Given the description of an element on the screen output the (x, y) to click on. 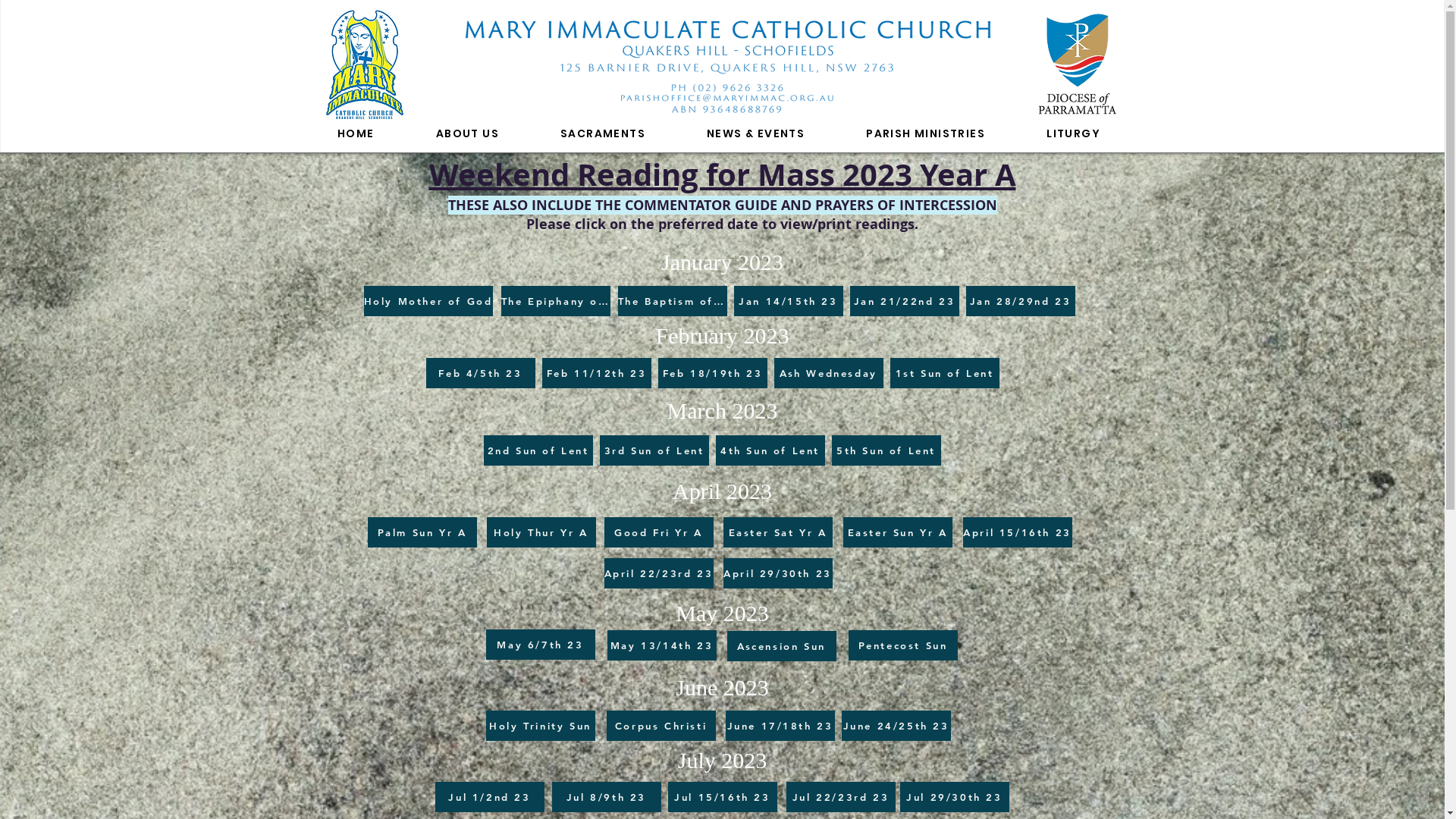
Holy Thur Yr A Element type: text (541, 532)
June 17/18th 23 Element type: text (779, 725)
Jul 15/16th 23 Element type: text (721, 796)
Easter Sun Yr A Element type: text (897, 532)
3rd Sun of Lent Element type: text (653, 450)
April 22/23rd 23 Element type: text (657, 573)
April 29/30th 23 Element type: text (777, 573)
Jan 21/22nd 23 Element type: text (903, 300)
5th Sun of Lent Element type: text (885, 450)
June 24/25th 23 Element type: text (895, 725)
Palm Sun Yr A Element type: text (421, 532)
Pentecost Sun Element type: text (902, 645)
Easter Sat Yr A Element type: text (777, 532)
Holy Mother of God Element type: text (428, 300)
Mary Immaculate Parish Element type: hover (364, 64)
2nd Sun of Lent Element type: text (538, 450)
Jan 28/29nd 23 Element type: text (1020, 300)
TITLE-BLOCKmips.png Element type: hover (727, 65)
Jul 29/30th 23 Element type: text (953, 796)
Jul 8/9th 23 Element type: text (606, 796)
Ascension Sun Element type: text (780, 645)
Diocese of Parramatta Element type: hover (1076, 66)
Feb 11/12th 23 Element type: text (595, 372)
Ash Wednesday Element type: text (827, 372)
NEWS & EVENTS Element type: text (754, 134)
Corpus Christi Element type: text (660, 725)
4th Sun of Lent Element type: text (770, 450)
Feb 18/19th 23 Element type: text (712, 372)
HOME Element type: text (356, 134)
PARISH MINISTRIES Element type: text (925, 134)
Jul 22/23rd 23 Element type: text (839, 796)
April 15/16th 23 Element type: text (1017, 532)
Jul 1/2nd 23 Element type: text (489, 796)
ABOUT US Element type: text (467, 134)
The Baptism of the Lord Element type: text (671, 300)
Good Fri Yr A Element type: text (657, 532)
1st Sun of Lent Element type: text (944, 372)
Holy Trinity Sun Element type: text (539, 725)
The Epiphany of the Lord Element type: text (554, 300)
May 6/7th 23 Element type: text (539, 644)
Jan 14/15th 23 Element type: text (788, 300)
Feb 4/5th 23 Element type: text (480, 372)
May 13/14th 23 Element type: text (660, 645)
